Given the description of an element on the screen output the (x, y) to click on. 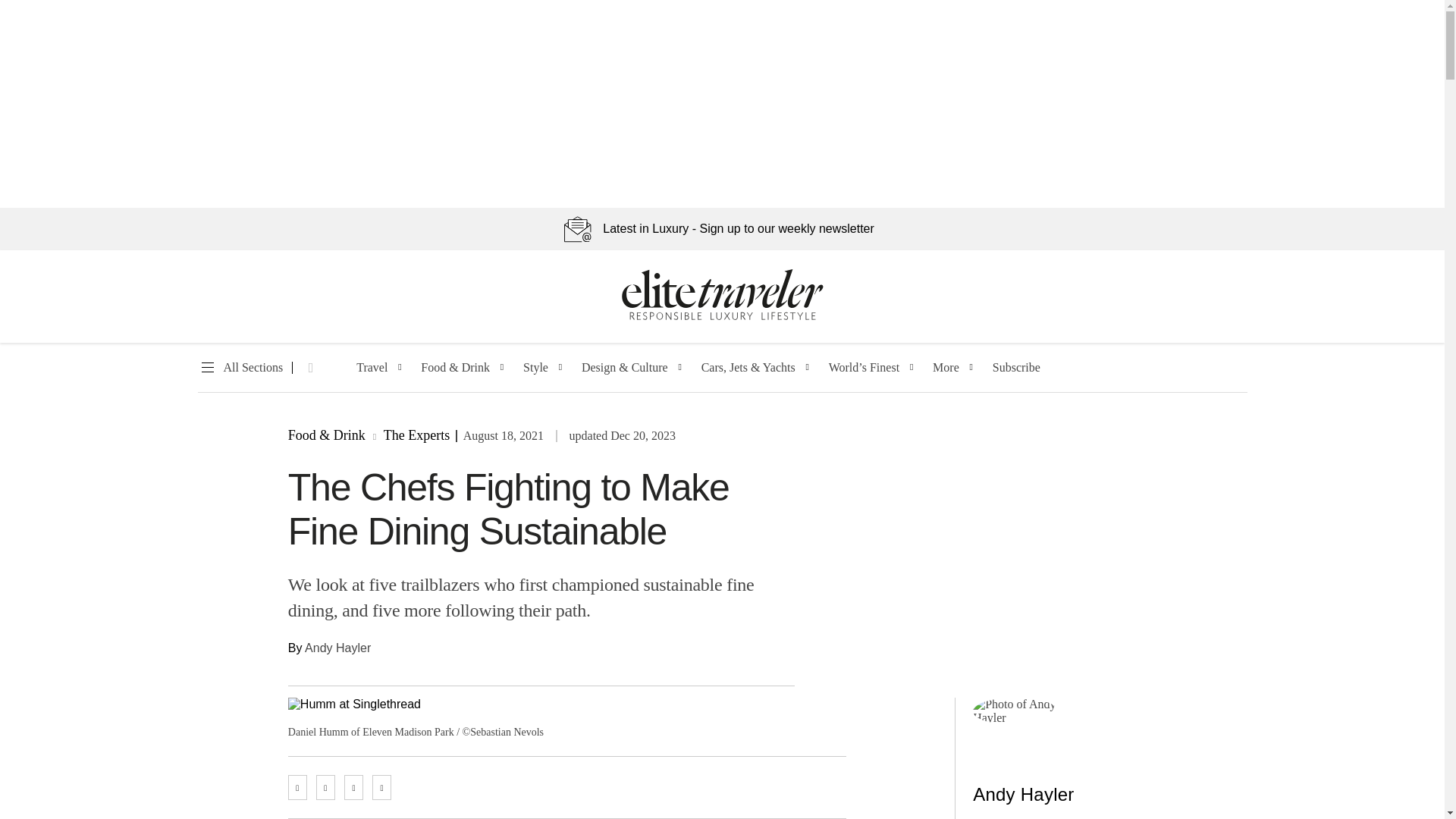
Elite Traveler (722, 317)
Travel (371, 368)
All Sections (239, 368)
